Given the description of an element on the screen output the (x, y) to click on. 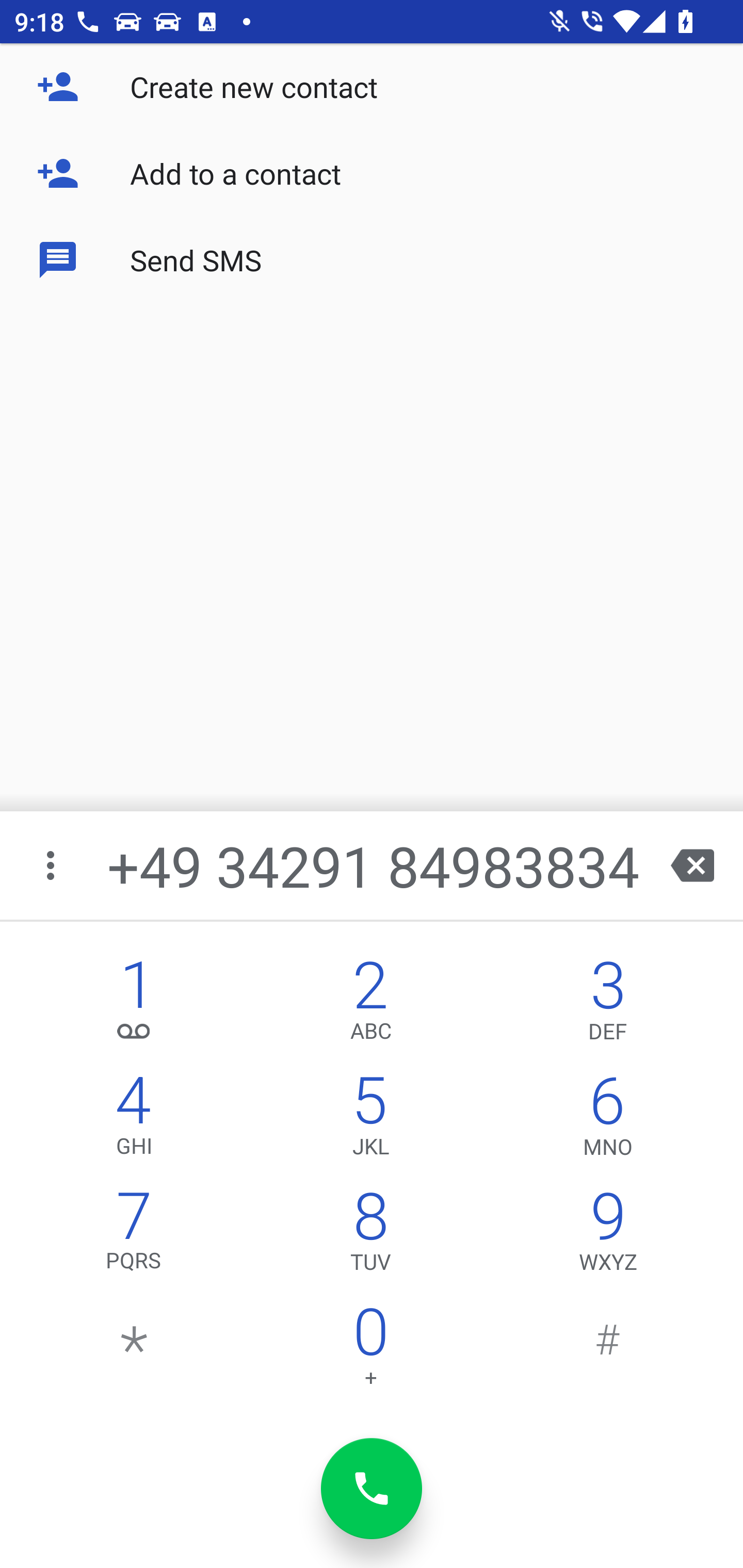
Create new contact (371, 86)
Add to a contact (371, 173)
Send SMS (371, 259)
+49 34291 84983834 (372, 865)
backspace (692, 865)
More options (52, 865)
1, 1 (133, 1005)
2,ABC 2 ABC (370, 1005)
3,DEF 3 DEF (607, 1005)
4,GHI 4 GHI (133, 1120)
5,JKL 5 JKL (370, 1120)
6,MNO 6 MNO (607, 1120)
7,PQRS 7 PQRS (133, 1235)
8,TUV 8 TUV (370, 1235)
9,WXYZ 9 WXYZ (607, 1235)
* (133, 1351)
0 0 + (370, 1351)
# (607, 1351)
dial (371, 1488)
